Given the description of an element on the screen output the (x, y) to click on. 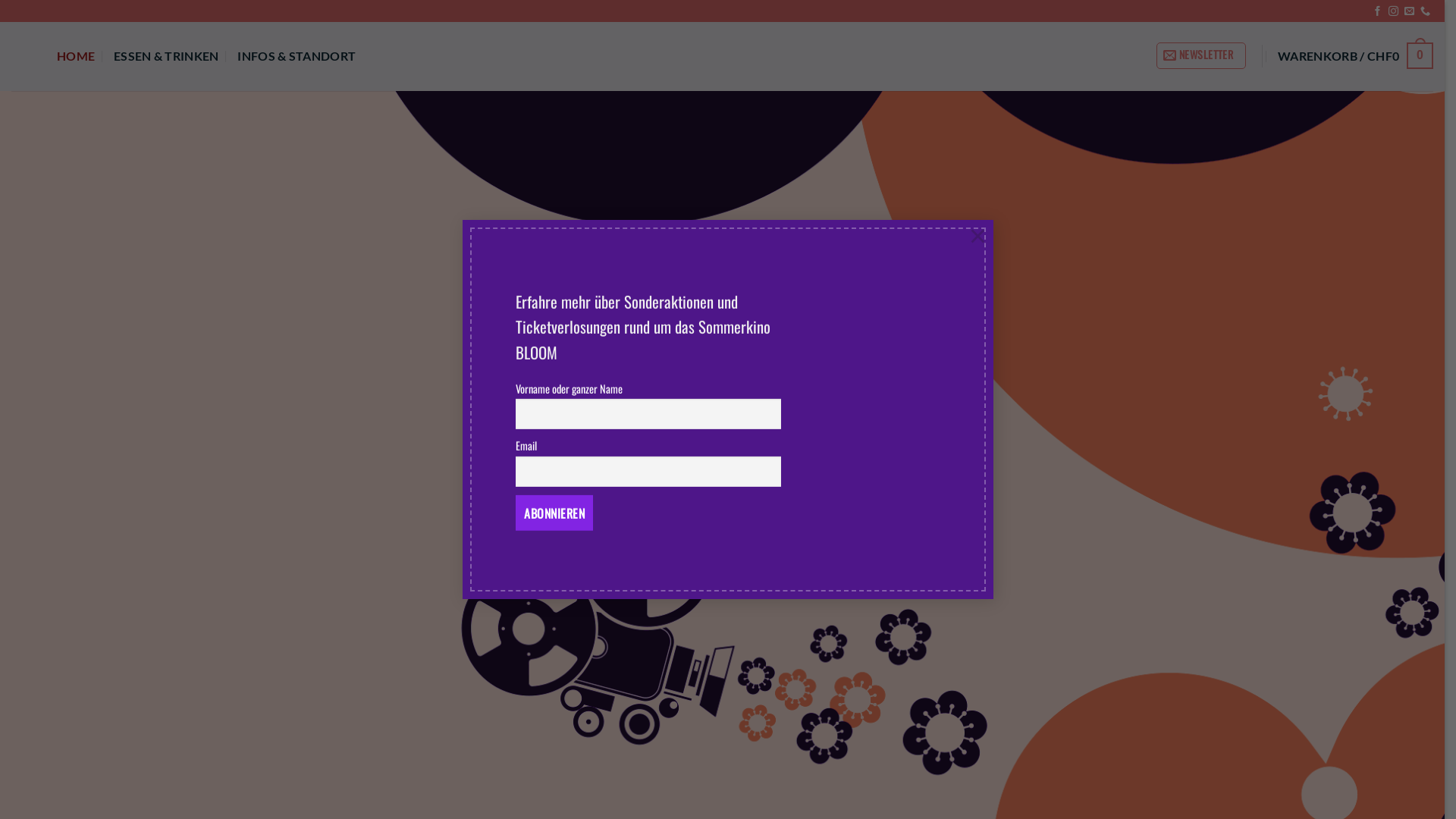
Follow on Facebook Element type: hover (1377, 11)
Abonnieren Element type: text (554, 512)
Send us an email Element type: hover (1409, 11)
Call us Element type: hover (1425, 11)
INFOS & STANDORT Element type: text (296, 55)
ESSEN & TRINKEN Element type: text (166, 55)
HOME Element type: text (75, 55)
Follow on Instagram Element type: hover (1393, 11)
WARENKORB / CHF0
0 Element type: text (1355, 55)
NEWSLETTER Element type: text (1200, 55)
